Given the description of an element on the screen output the (x, y) to click on. 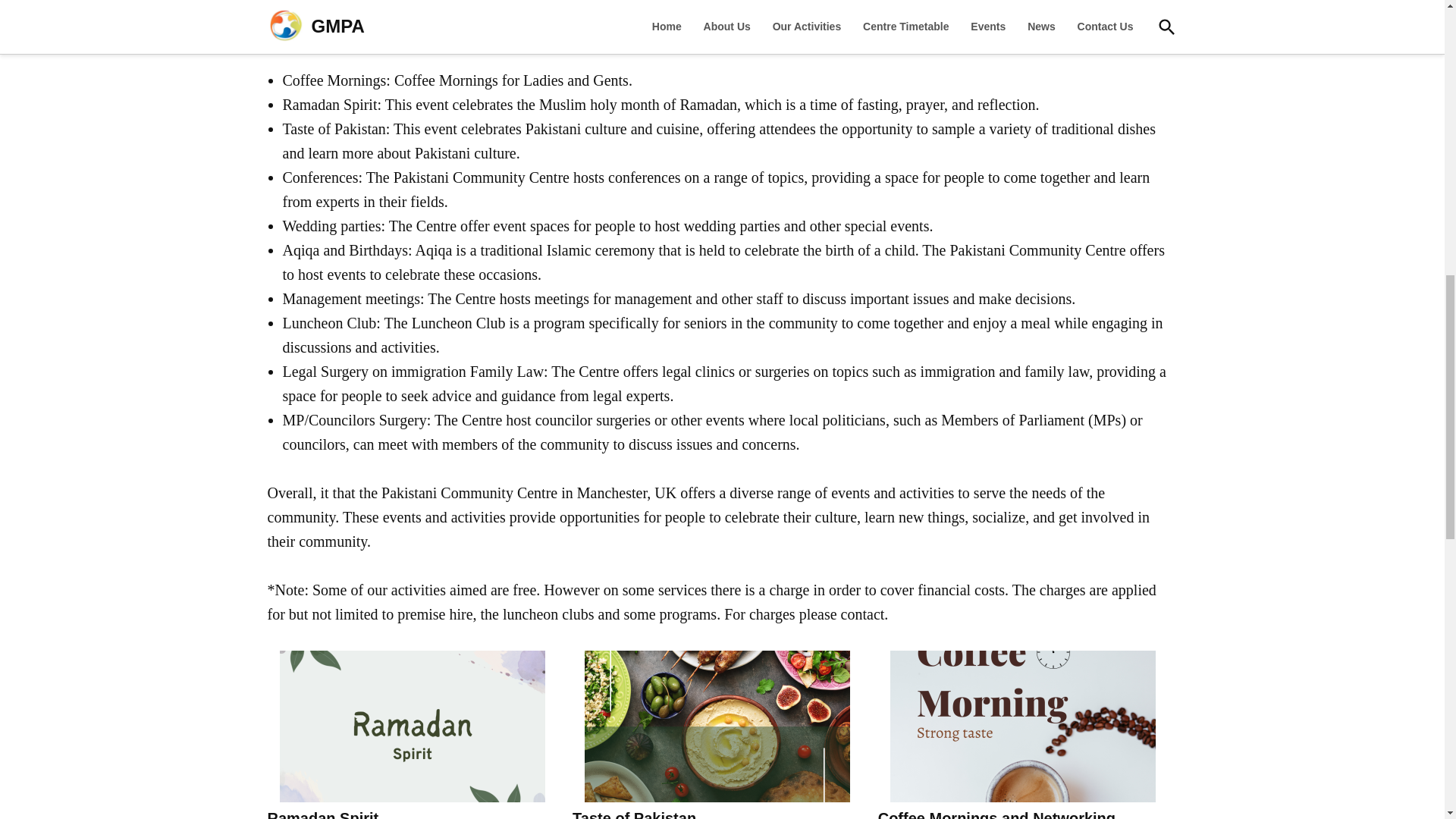
Taste of Pakistan (633, 814)
Coffee Mornings and Networking (996, 814)
Ramadan Spirit (322, 814)
